Given the description of an element on the screen output the (x, y) to click on. 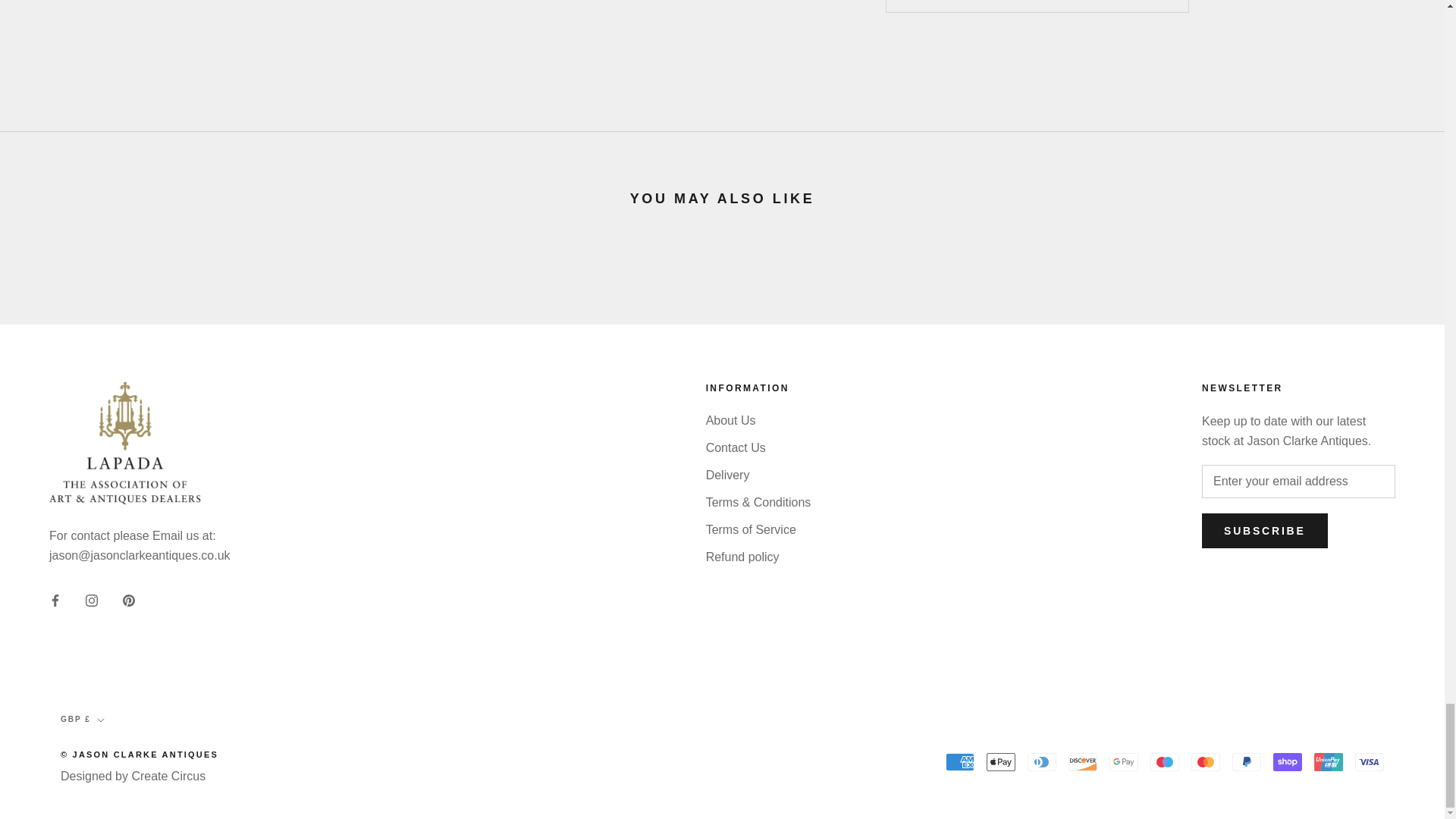
Union Pay (1328, 761)
Visa (1369, 761)
Google Pay (1123, 761)
Shop Pay (1286, 761)
Mastercard (1205, 761)
American Express (959, 761)
Discover (1082, 761)
Apple Pay (1000, 761)
Maestro (1164, 761)
PayPal (1245, 761)
